Given the description of an element on the screen output the (x, y) to click on. 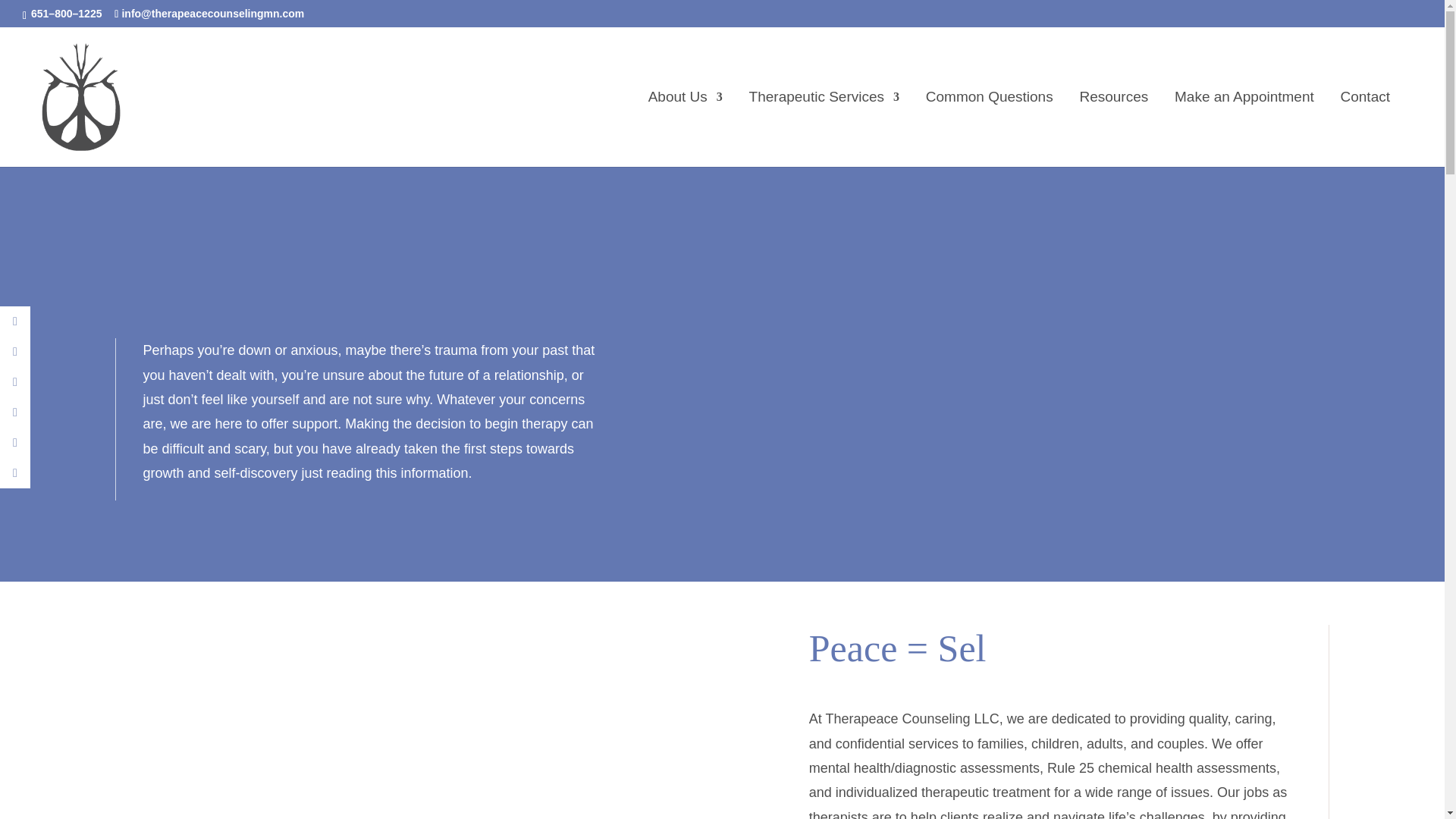
Common Questions (989, 129)
About Us (684, 129)
Therapeutic Services (824, 129)
Make an Appointment (1244, 129)
Resources (1113, 129)
